Given the description of an element on the screen output the (x, y) to click on. 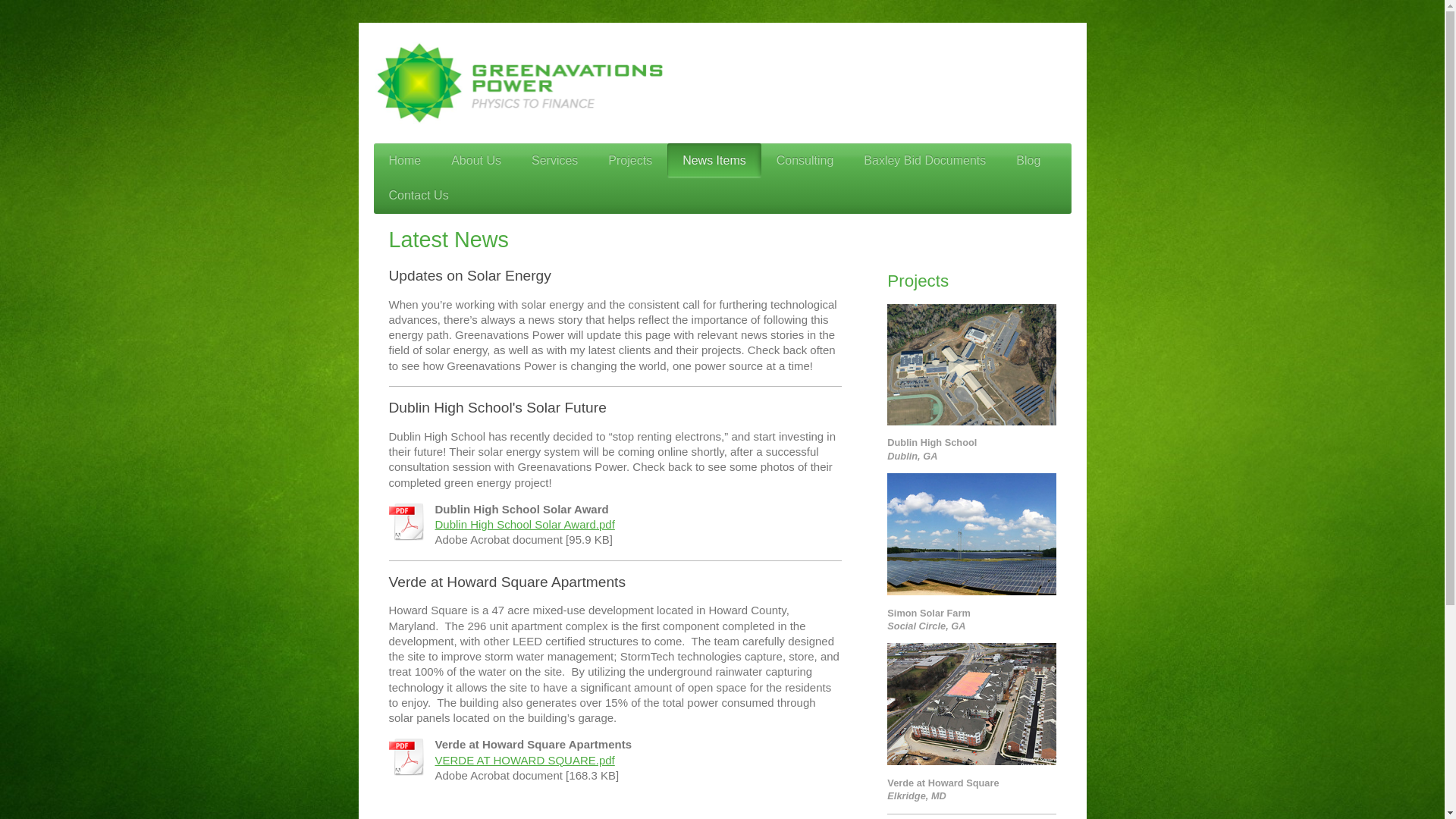
Services (554, 160)
Projects (629, 160)
Dublin High School Solar Award.pdf (524, 523)
Baxley Bid Documents (924, 160)
Home (403, 160)
News Items (713, 160)
Blog (1028, 160)
Contact Us (417, 195)
Consulting (804, 160)
About Us (475, 160)
VERDE AT HOWARD SQUARE.pdf (524, 759)
